Given the description of an element on the screen output the (x, y) to click on. 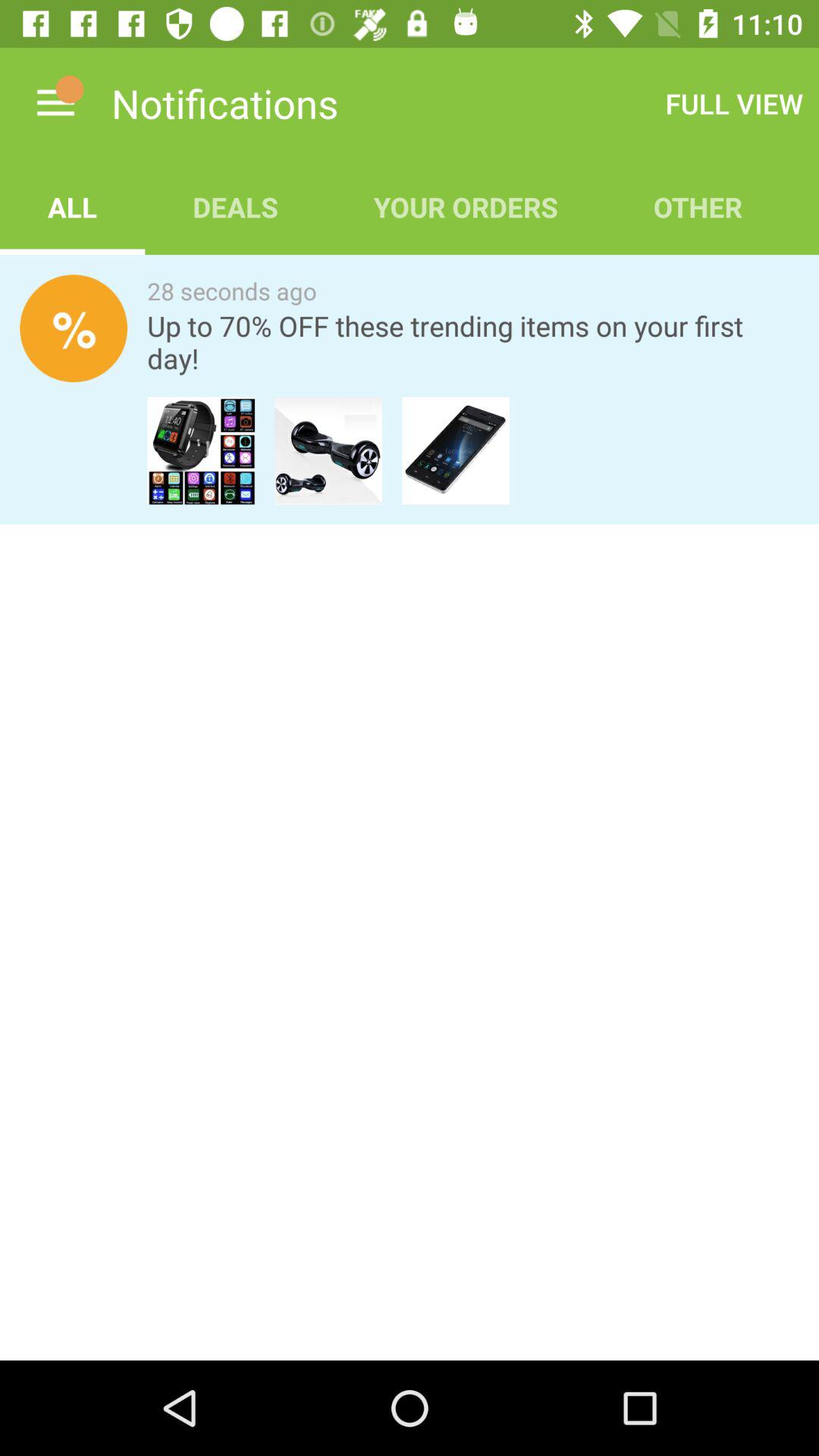
click the app to the right of your orders icon (734, 103)
